Given the description of an element on the screen output the (x, y) to click on. 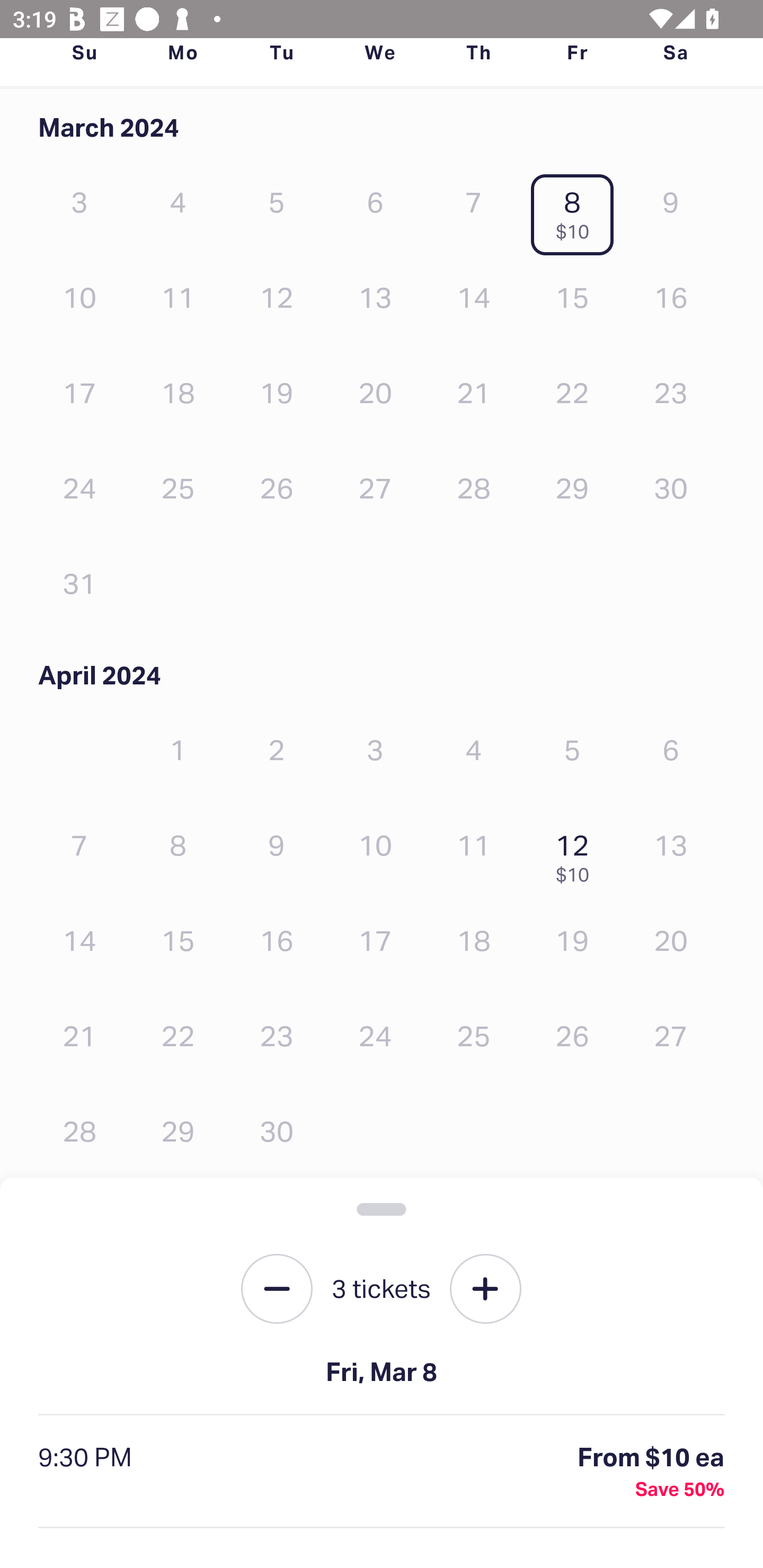
8 $10 (577, 210)
12 $10 (577, 853)
9:30 PM From $10 ea Save 50% (381, 1471)
